Given the description of an element on the screen output the (x, y) to click on. 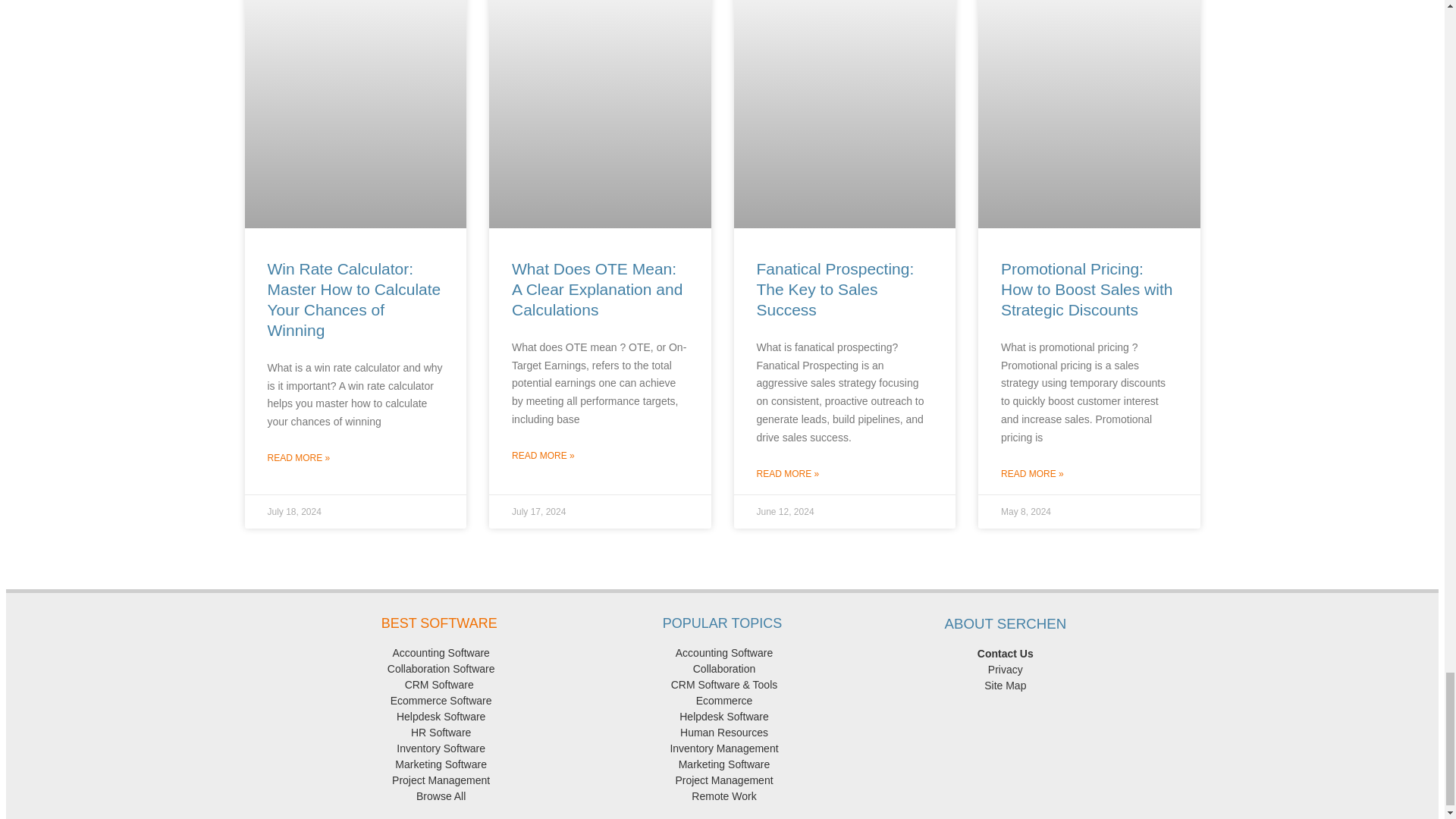
Fanatical Prospecting: The Key to Sales Success (835, 289)
Browse All (438, 796)
Accounting Software (721, 653)
Accounting Software (438, 653)
Collaboration Software (438, 668)
CRM Software (438, 684)
HR Software (438, 732)
Helpdesk Software (438, 716)
Project Management (438, 779)
